Given the description of an element on the screen output the (x, y) to click on. 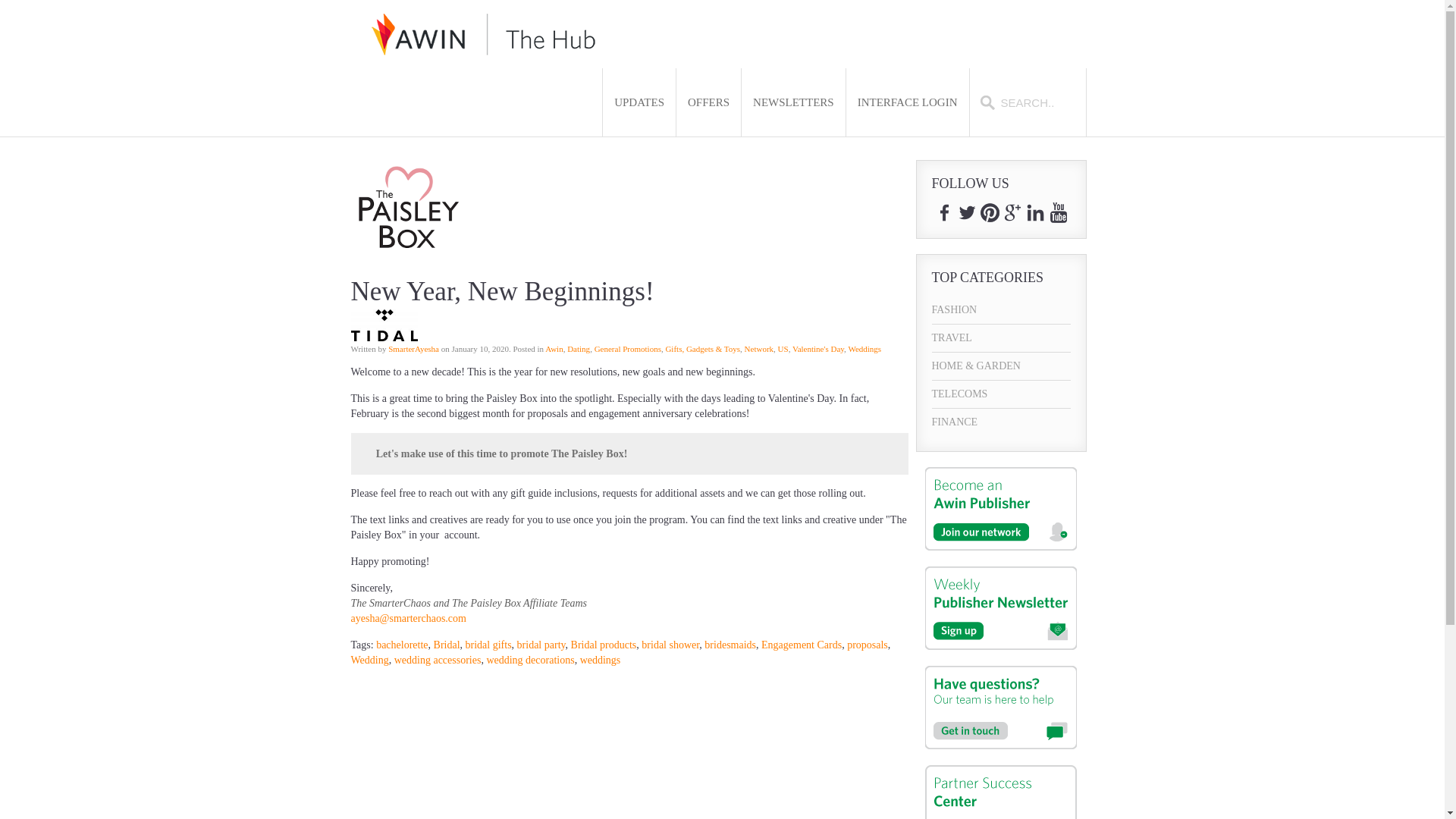
Engagement Cards (801, 644)
OFFERS (708, 102)
SmarterAyesha (413, 347)
wedding accessories (437, 659)
wedding decorations (529, 659)
Wedding (369, 659)
Valentine's Day (818, 347)
weddings (600, 659)
Interface Login (907, 102)
Dating (578, 347)
